Given the description of an element on the screen output the (x, y) to click on. 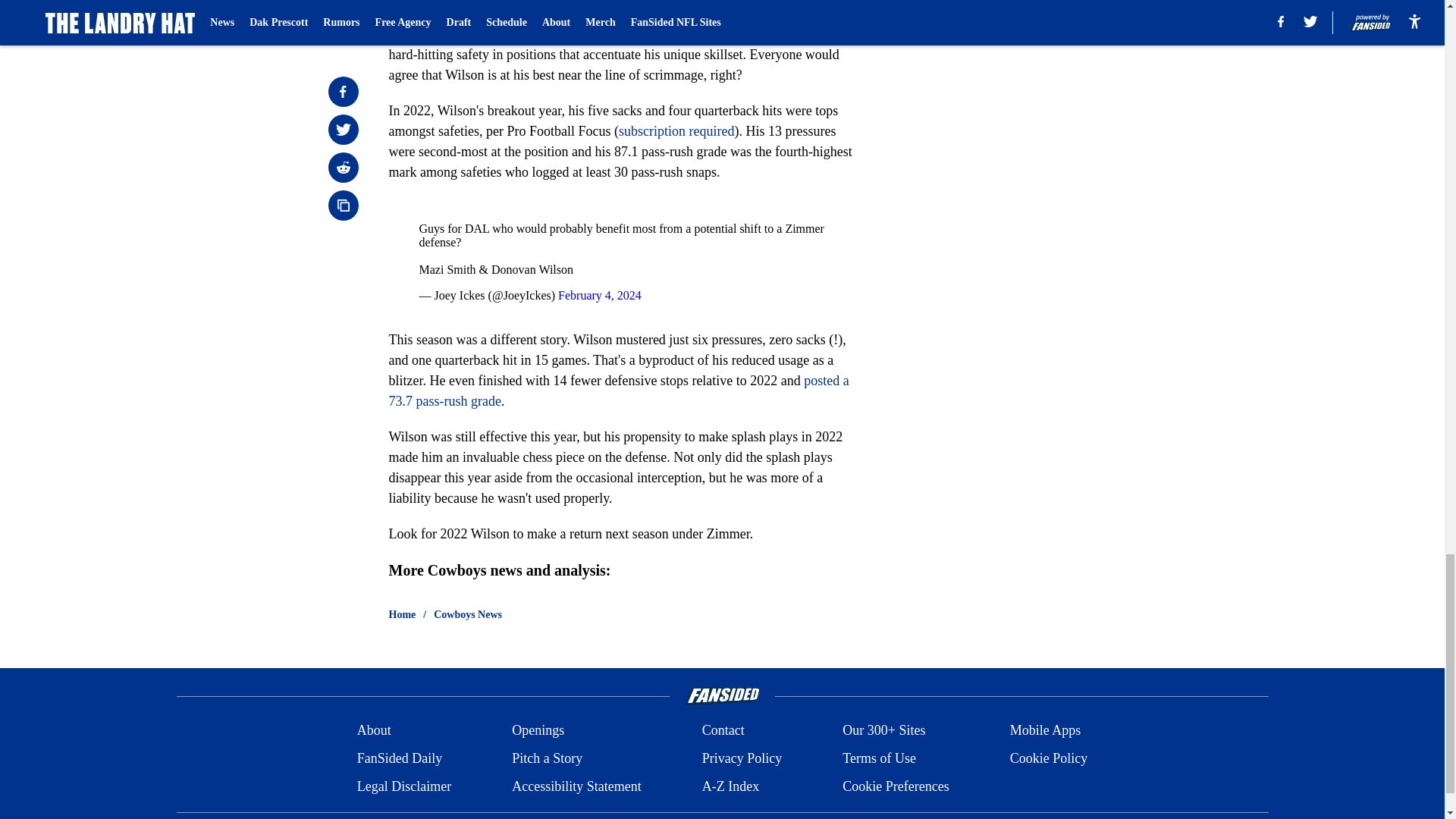
posted a 73.7 pass-rush grade (618, 390)
Terms of Use (879, 758)
subscription required (675, 130)
Mobile Apps (1045, 730)
FanSided Daily (399, 758)
Contact (722, 730)
February 4, 2024 (599, 295)
About (373, 730)
Pitch a Story (547, 758)
Openings (538, 730)
